Given the description of an element on the screen output the (x, y) to click on. 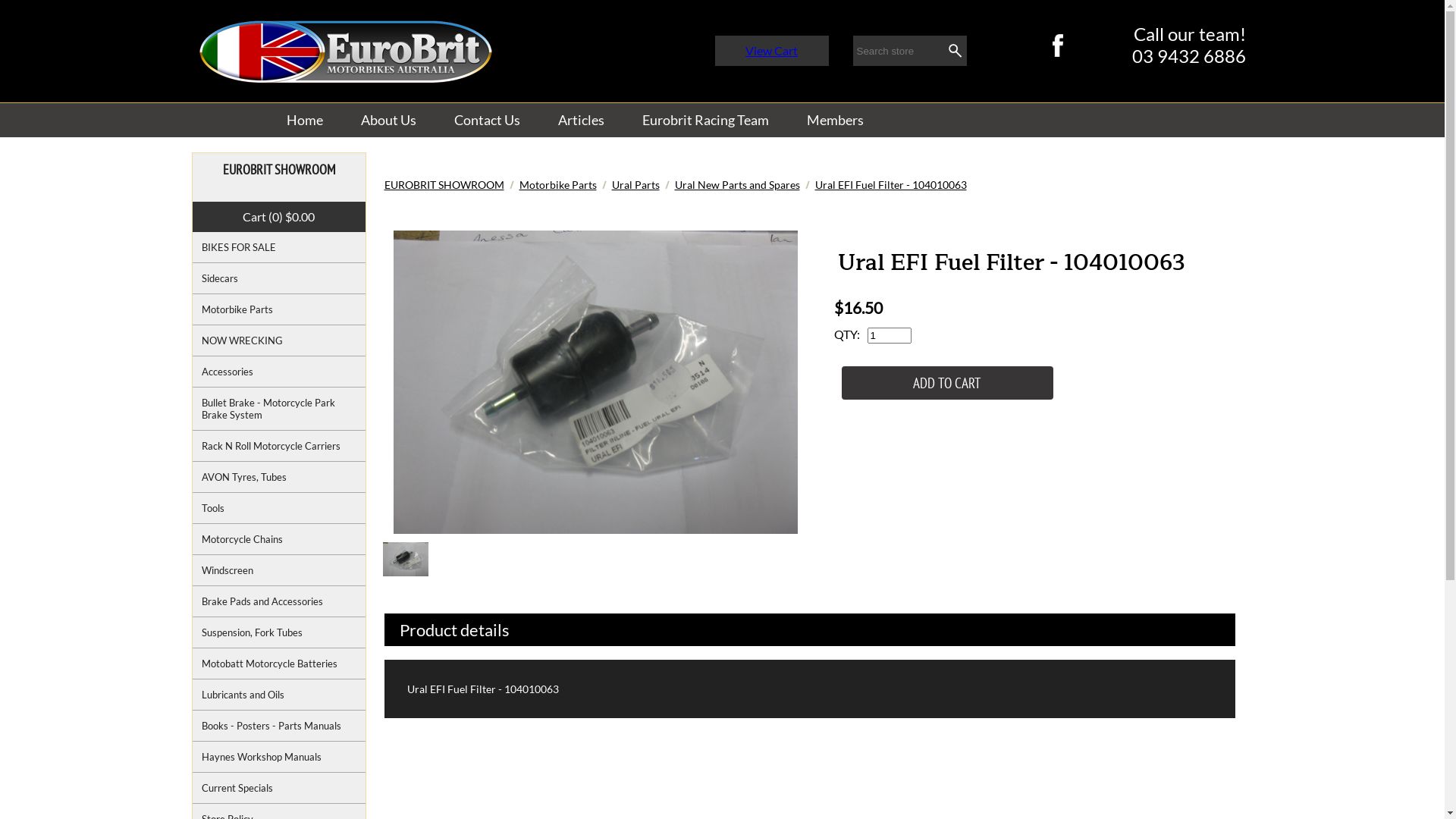
Ural New Parts and Spares Element type: text (737, 184)
Home Element type: text (303, 120)
Current Specials Element type: text (278, 787)
ADD TO CART Element type: text (947, 382)
Suspension, Fork Tubes Element type: text (278, 632)
BIKES FOR SALE Element type: text (278, 247)
Ural Parts Element type: text (634, 184)
Motobatt Motorcycle Batteries Element type: text (278, 663)
Books - Posters - Parts Manuals Element type: text (278, 725)
Bullet Brake - Motorcycle Park Brake System Element type: text (278, 408)
NOW WRECKING Element type: text (278, 340)
Ural EFI Fuel Filter - 104010063 Element type: text (890, 184)
Lubricants and Oils Element type: text (278, 694)
Accessories Element type: text (278, 371)
Windscreen Element type: text (278, 570)
AVON Tyres, Tubes Element type: text (278, 476)
Brake Pads and Accessories Element type: text (278, 601)
Cart (0) $0.00 Element type: text (278, 216)
Motorcycle Chains Element type: text (278, 539)
Rack N Roll Motorcycle Carriers Element type: text (278, 445)
View Cart Element type: text (771, 50)
Contact Us Element type: text (487, 120)
03 9432 6886 Element type: text (1188, 55)
Motorbike Parts Element type: text (278, 309)
About Us Element type: text (387, 120)
Tools Element type: text (278, 508)
Eurobrit Racing Team Element type: text (705, 120)
Members Element type: text (834, 120)
Ural EFI Fuel Filter - 104010063 Element type: hover (594, 381)
Sidecars Element type: text (278, 278)
Haynes Workshop Manuals Element type: text (278, 756)
Articles Element type: text (580, 120)
EUROBRIT SHOWROOM Element type: text (443, 184)
Motorbike Parts Element type: text (557, 184)
